Given the description of an element on the screen output the (x, y) to click on. 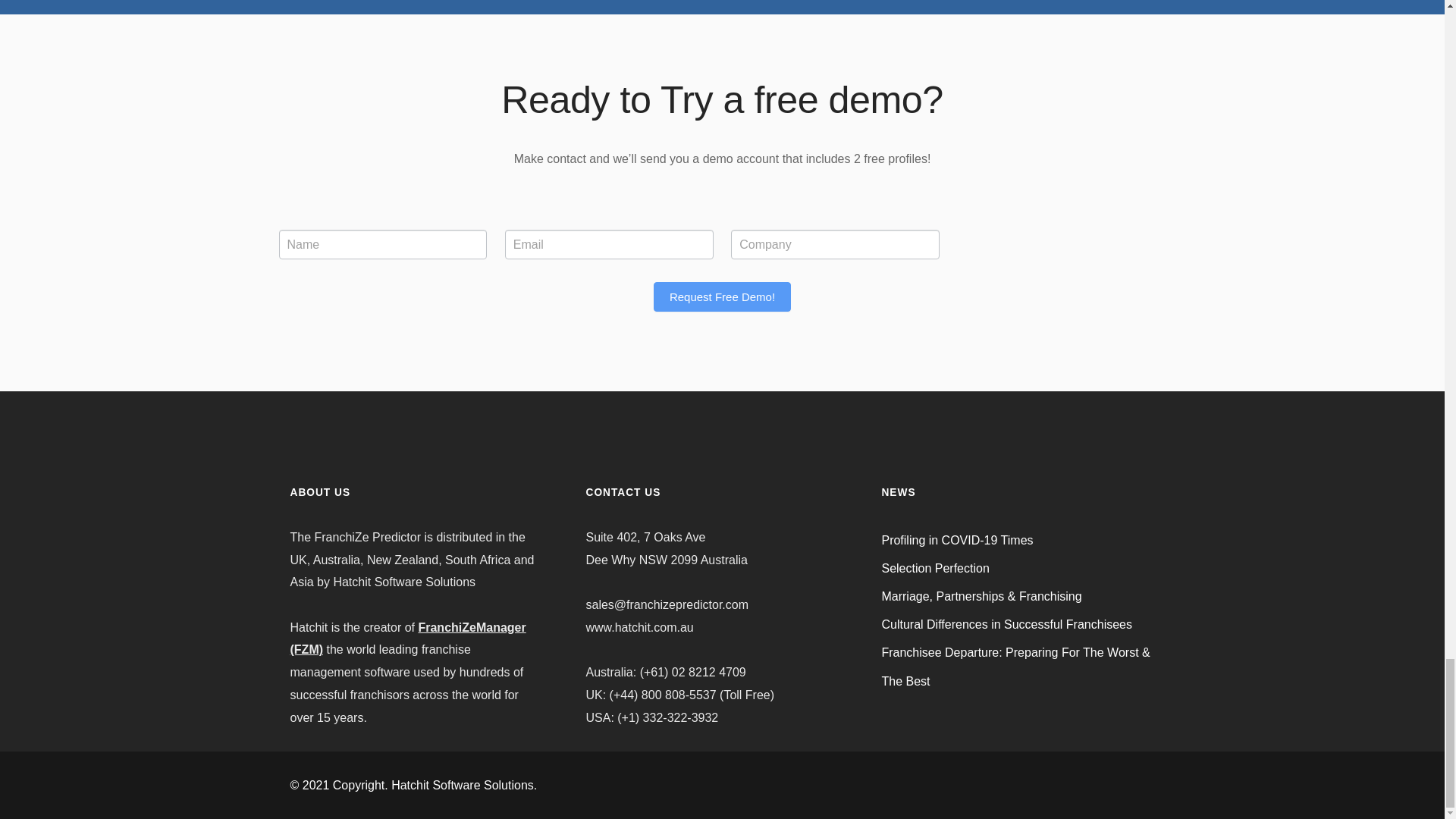
Selection Perfection (934, 567)
Profiling in COVID-19 Times (956, 540)
Cultural Differences in Successful Franchisees (1006, 624)
Request Free Demo! (721, 296)
